Given the description of an element on the screen output the (x, y) to click on. 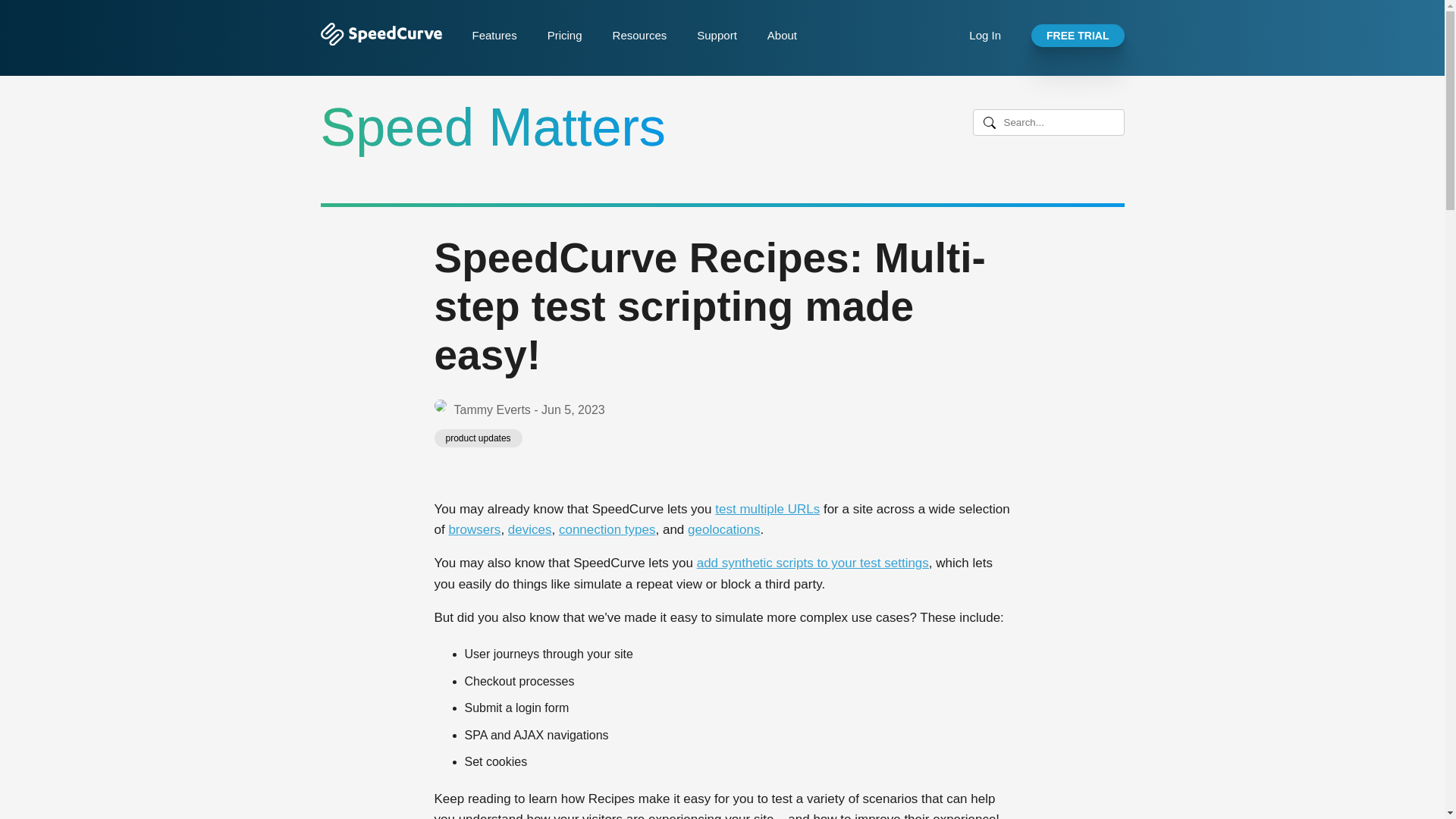
geolocations (723, 529)
Log In (985, 34)
product updates (477, 438)
FREE TRIAL (1077, 35)
browsers (474, 529)
add synthetic scripts to your test settings (812, 563)
SpeedCurve (380, 41)
connection types (607, 529)
Speed Matters (492, 127)
test multiple URLs (766, 509)
devices (529, 529)
